Given the description of an element on the screen output the (x, y) to click on. 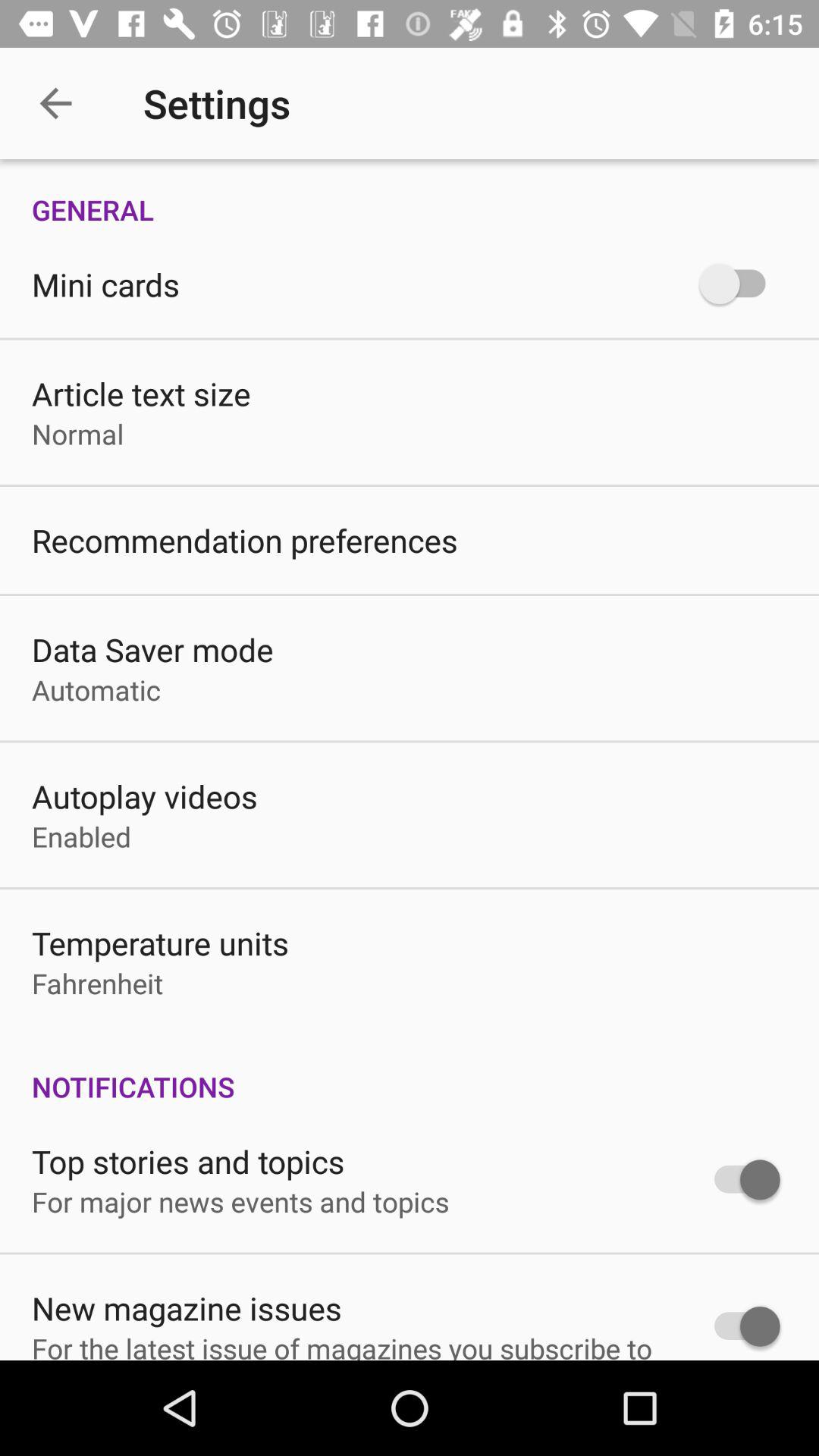
swipe until the for major news (240, 1201)
